Given the description of an element on the screen output the (x, y) to click on. 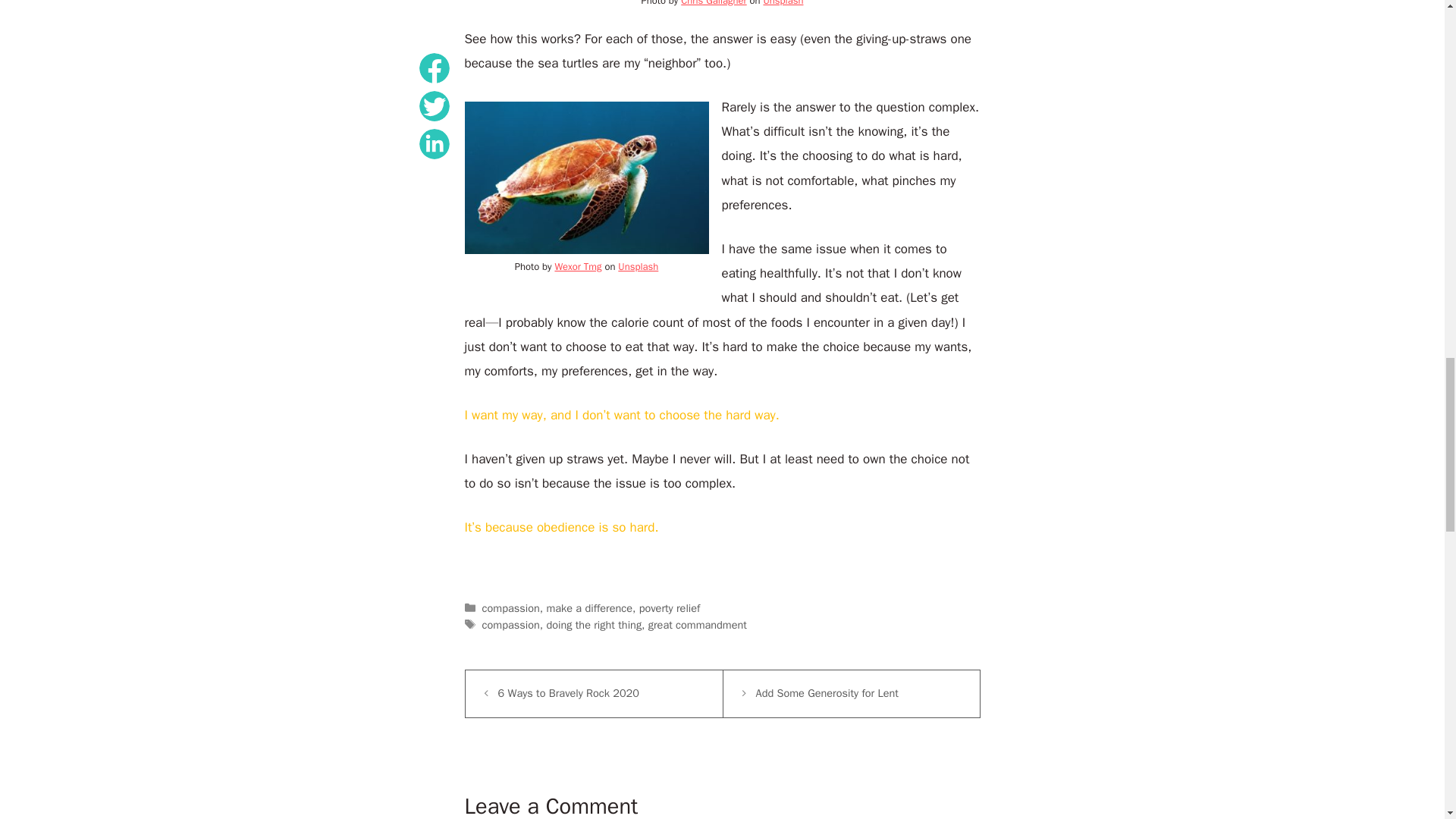
Unsplash (637, 266)
Wexor Tmg (577, 266)
great commandment (696, 624)
poverty relief (669, 608)
make a difference (588, 608)
6 Ways to Bravely Rock 2020 (568, 693)
Add Some Generosity for Lent (826, 693)
compassion (510, 608)
doing the right thing (594, 624)
Unsplash (782, 3)
